Given the description of an element on the screen output the (x, y) to click on. 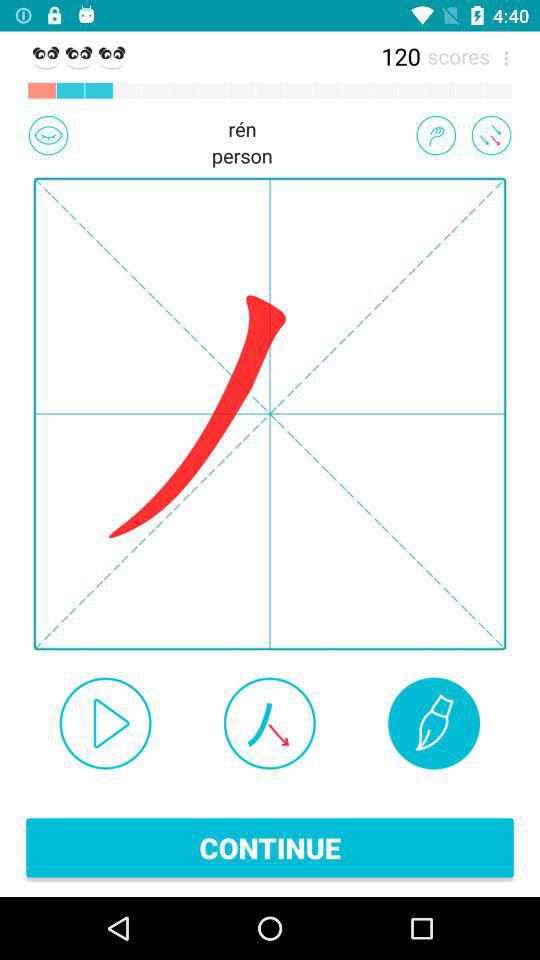
go to next (105, 723)
